Given the description of an element on the screen output the (x, y) to click on. 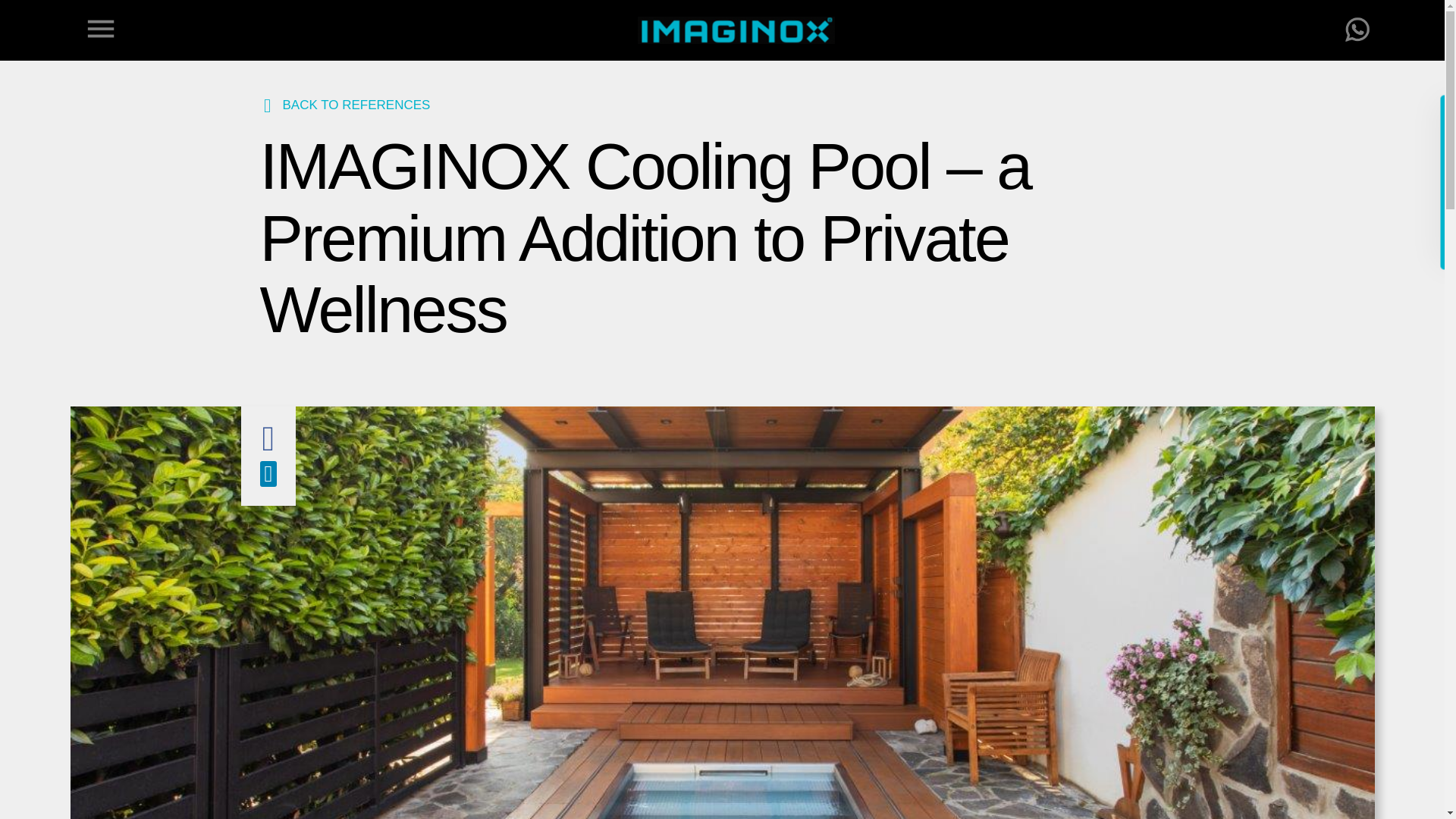
Share on Facebook (268, 447)
BACK TO REFERENCES (344, 104)
Send by email (267, 479)
